Given the description of an element on the screen output the (x, y) to click on. 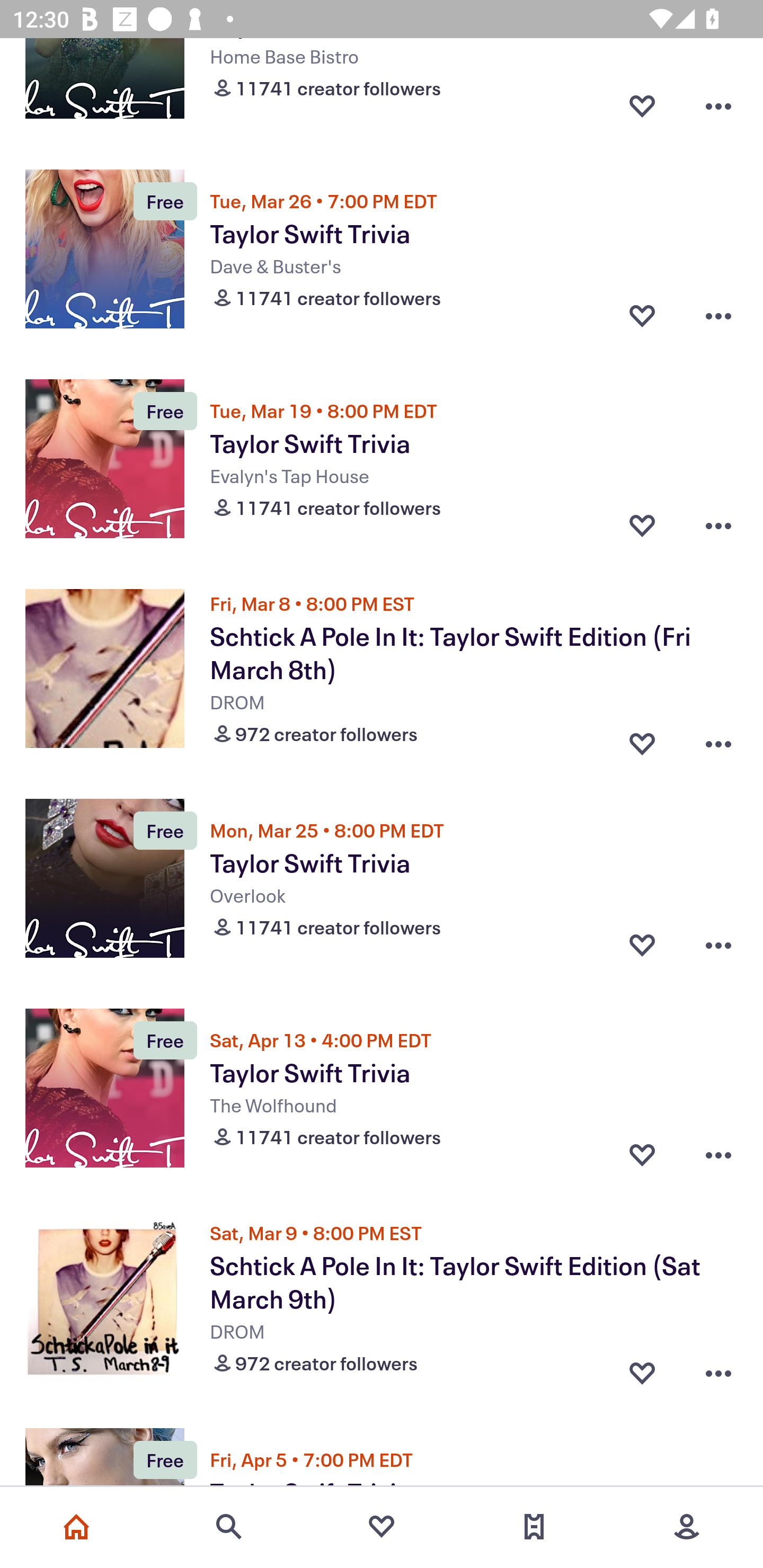
Favorite button (642, 106)
Overflow menu button (718, 106)
Favorite button (642, 315)
Overflow menu button (718, 315)
Favorite button (642, 524)
Overflow menu button (718, 524)
Favorite button (642, 739)
Overflow menu button (718, 739)
Favorite button (642, 945)
Overflow menu button (718, 945)
Favorite button (642, 1154)
Overflow menu button (718, 1154)
Favorite button (642, 1369)
Overflow menu button (718, 1369)
Home (76, 1526)
Search events (228, 1526)
Favorites (381, 1526)
Tickets (533, 1526)
More (686, 1526)
